Given the description of an element on the screen output the (x, y) to click on. 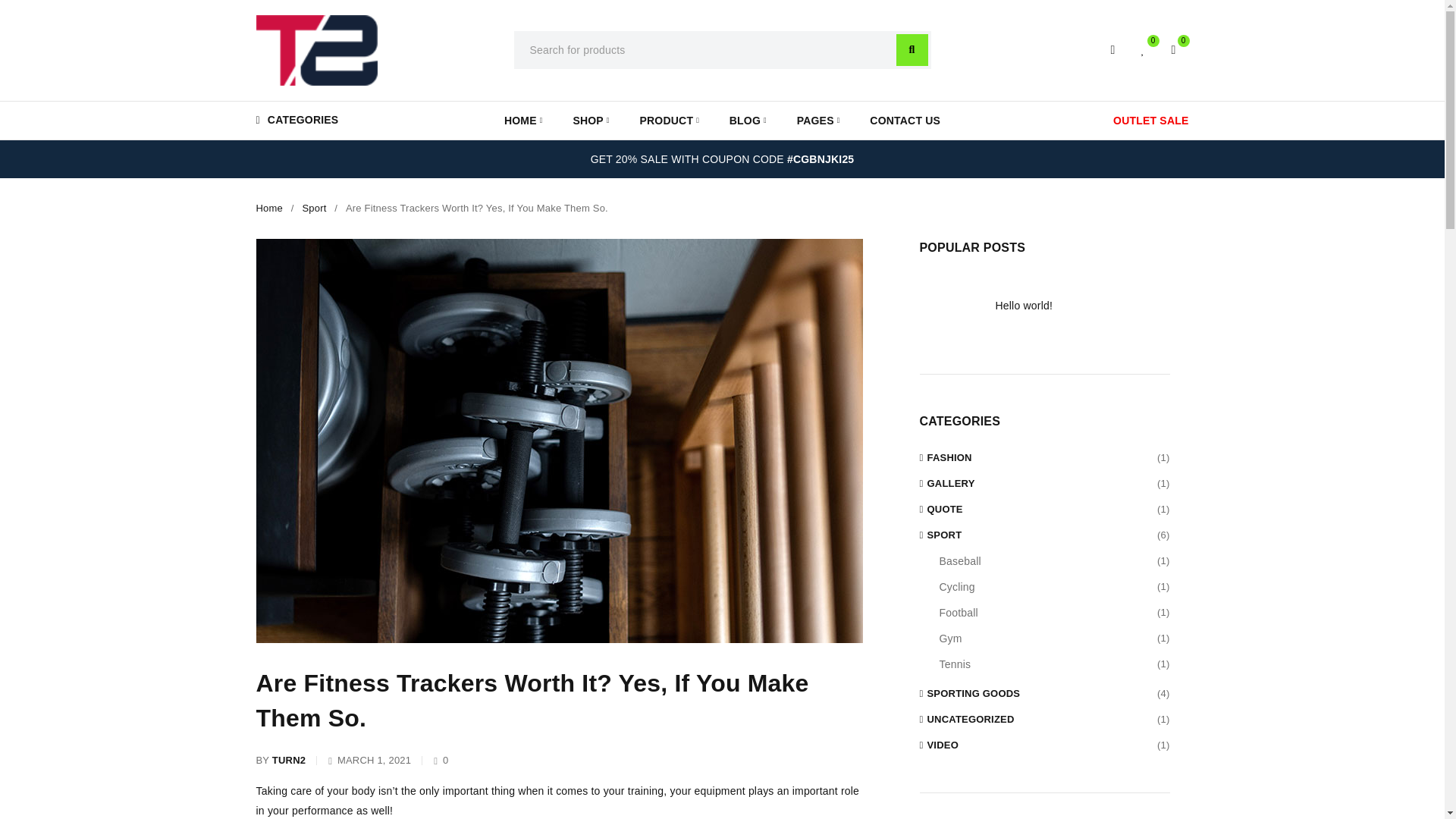
Reebox (316, 50)
Search (912, 50)
Wishlist (1143, 50)
SHOP (590, 120)
0 (1143, 50)
0 (1173, 50)
Search (912, 50)
Posts by turn2 (288, 760)
HOME (522, 120)
View your shopping cart (1173, 50)
Login or Register (1112, 50)
